Given the description of an element on the screen output the (x, y) to click on. 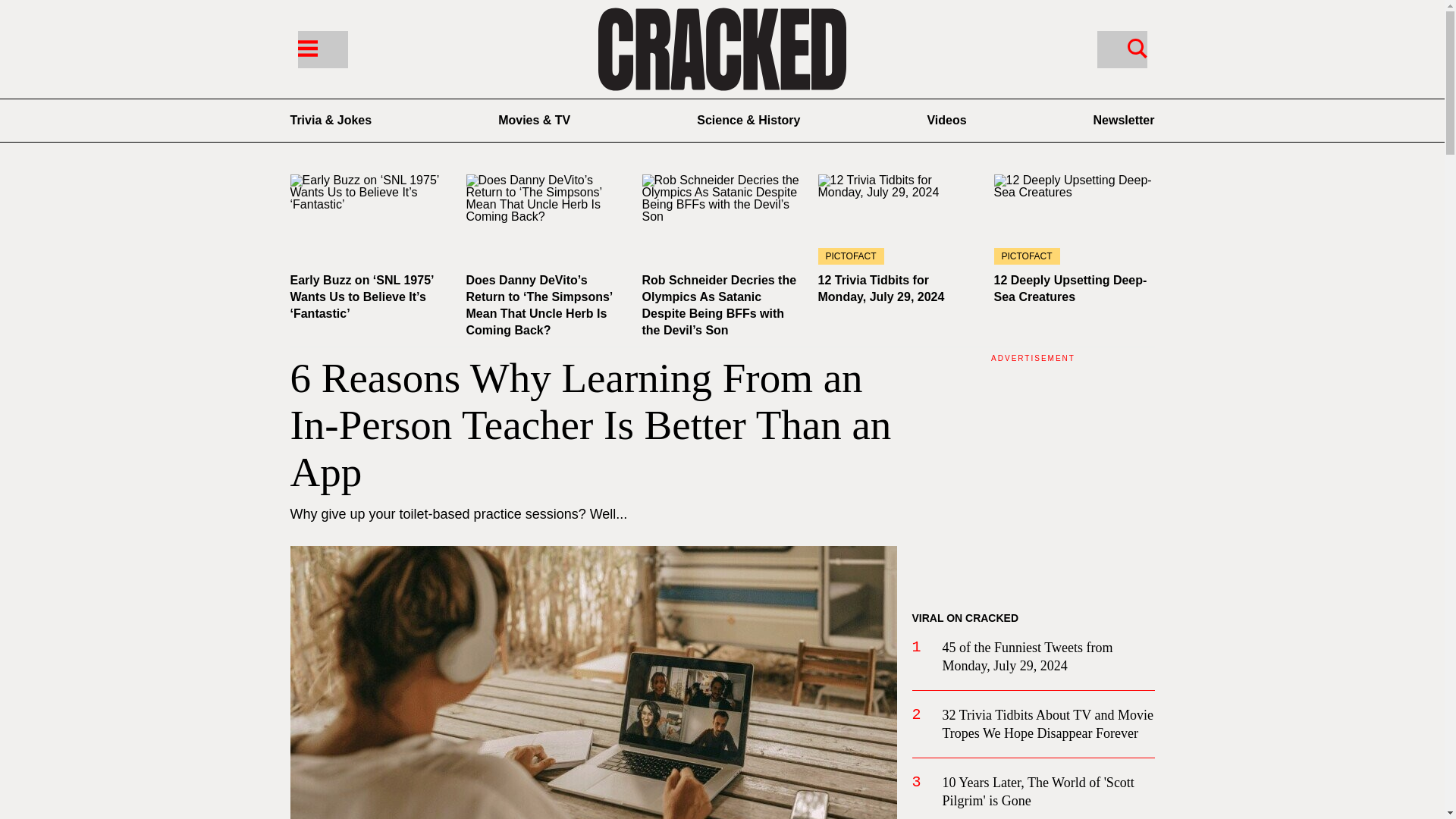
Menu (307, 47)
Menu (322, 48)
Search (1121, 48)
12 Deeply Upsetting Deep-Sea Creatures (1069, 288)
Newsletter (1123, 119)
Videos (946, 119)
Cracked Newsletter (1123, 119)
Videos (946, 119)
12 Trivia Tidbits for Monday, July 29, 2024 (879, 288)
Search (1136, 47)
PICTOFACT (897, 219)
PICTOFACT (1073, 219)
